Given the description of an element on the screen output the (x, y) to click on. 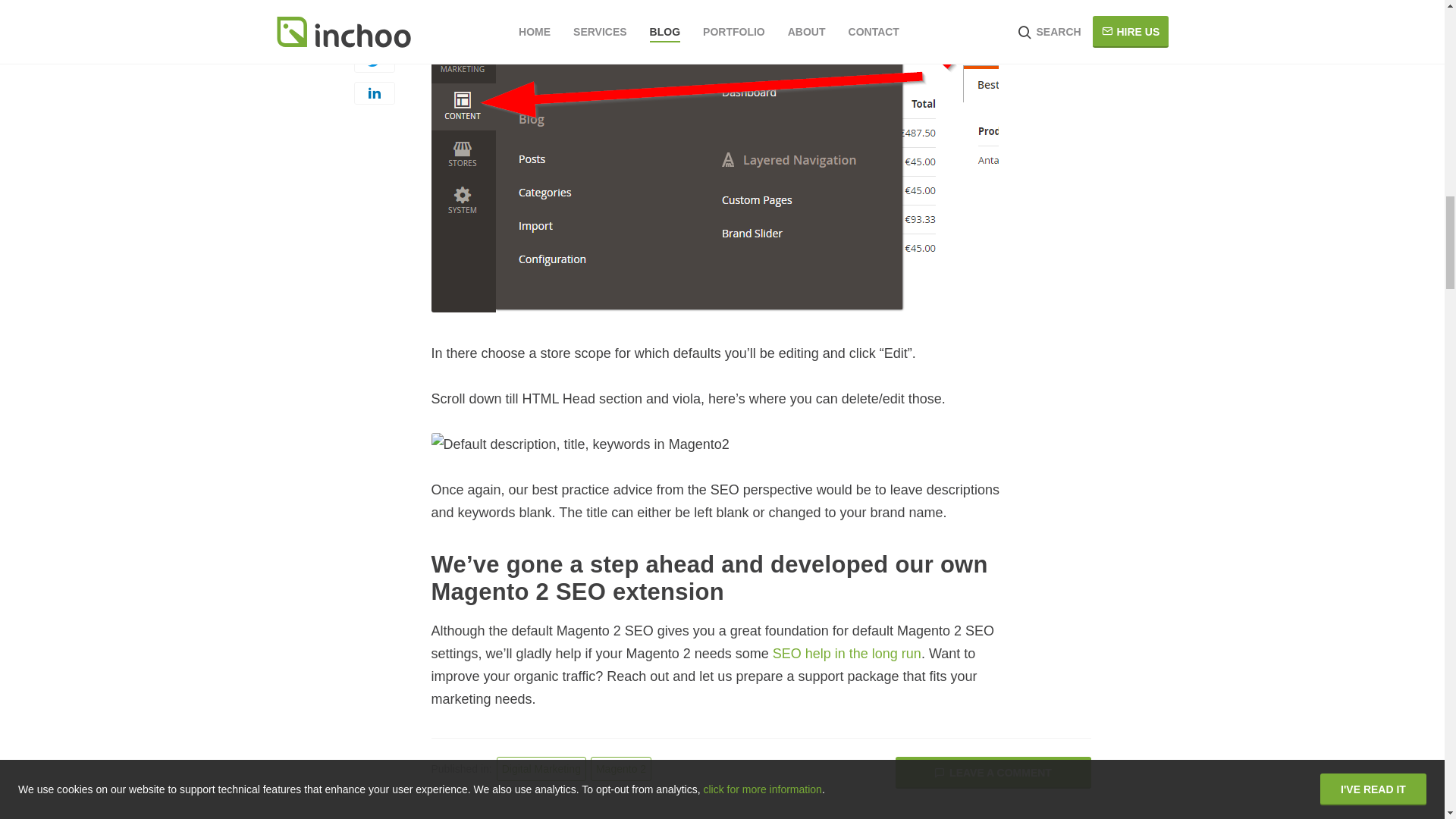
Leave a comment (992, 772)
Digital Marketing (541, 768)
SEO help in the long run (847, 653)
Magento 2 (620, 768)
